Given the description of an element on the screen output the (x, y) to click on. 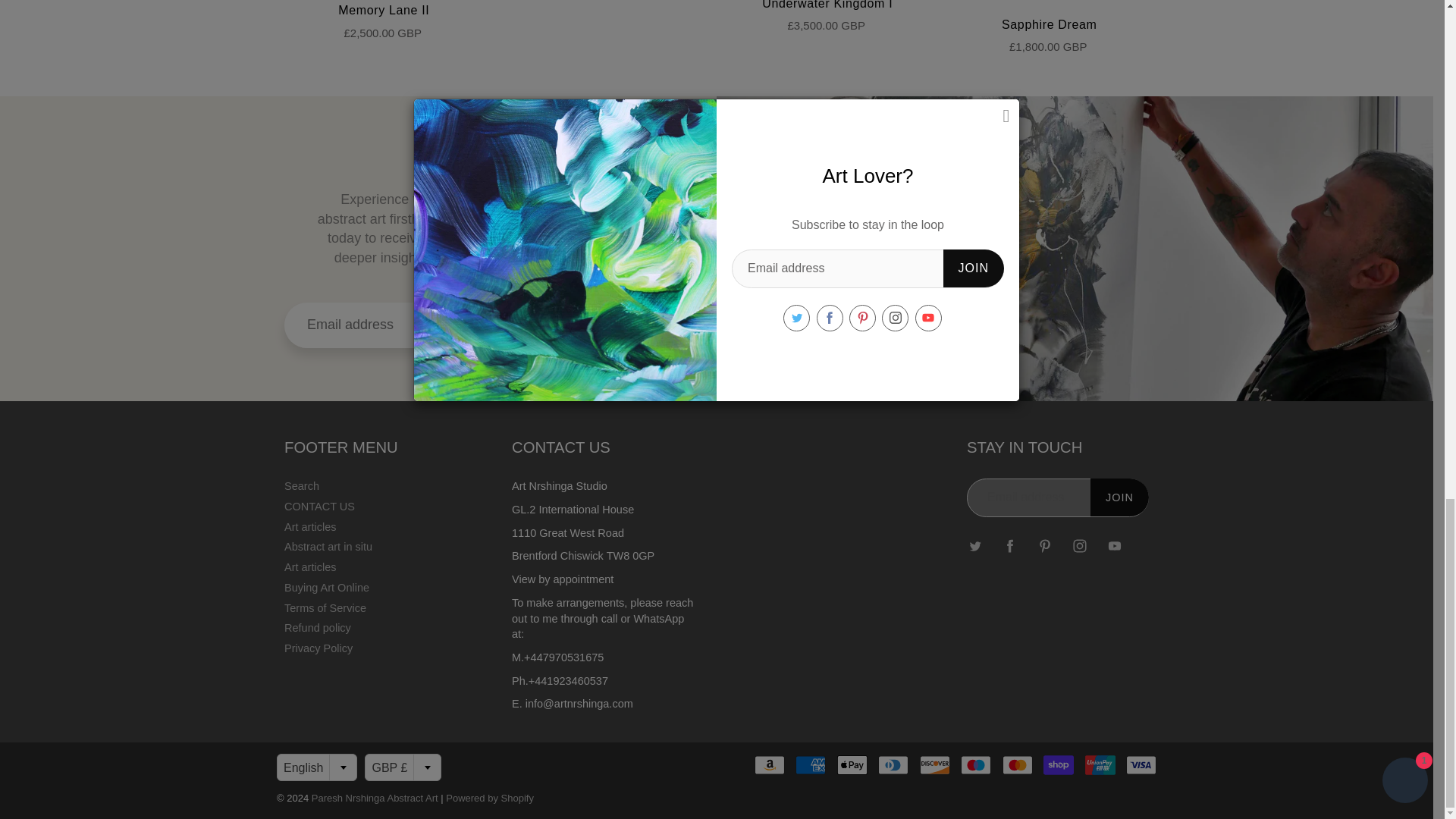
American Express (809, 764)
Apple Pay (852, 764)
Amazon (769, 764)
